Given the description of an element on the screen output the (x, y) to click on. 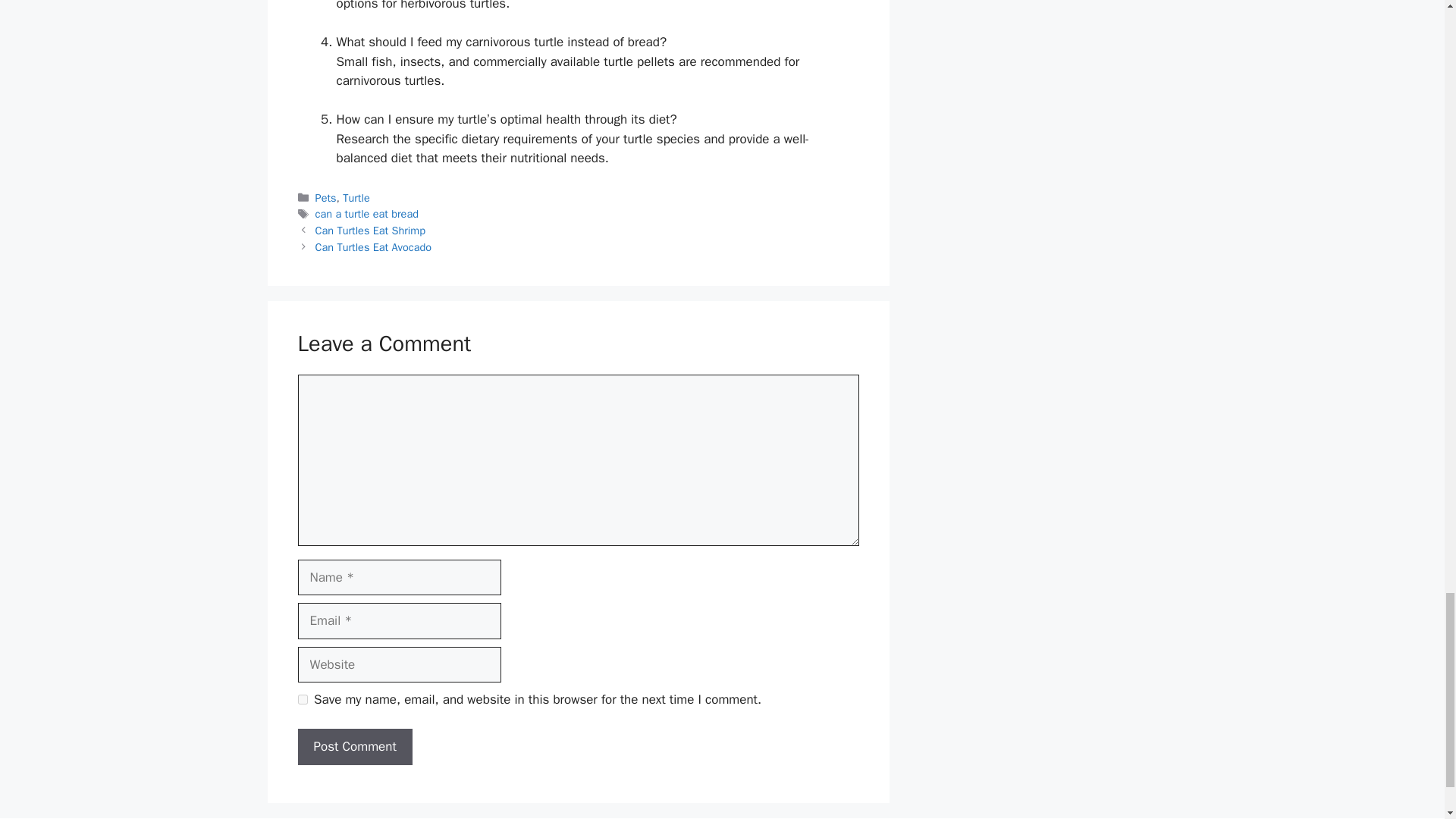
can a turtle eat bread (367, 213)
Can Turtles Eat Shrimp (370, 230)
yes (302, 699)
Can Turtles Eat Avocado (372, 246)
Post Comment (354, 746)
Post Comment (354, 746)
Turtle (355, 197)
Pets (325, 197)
